Given the description of an element on the screen output the (x, y) to click on. 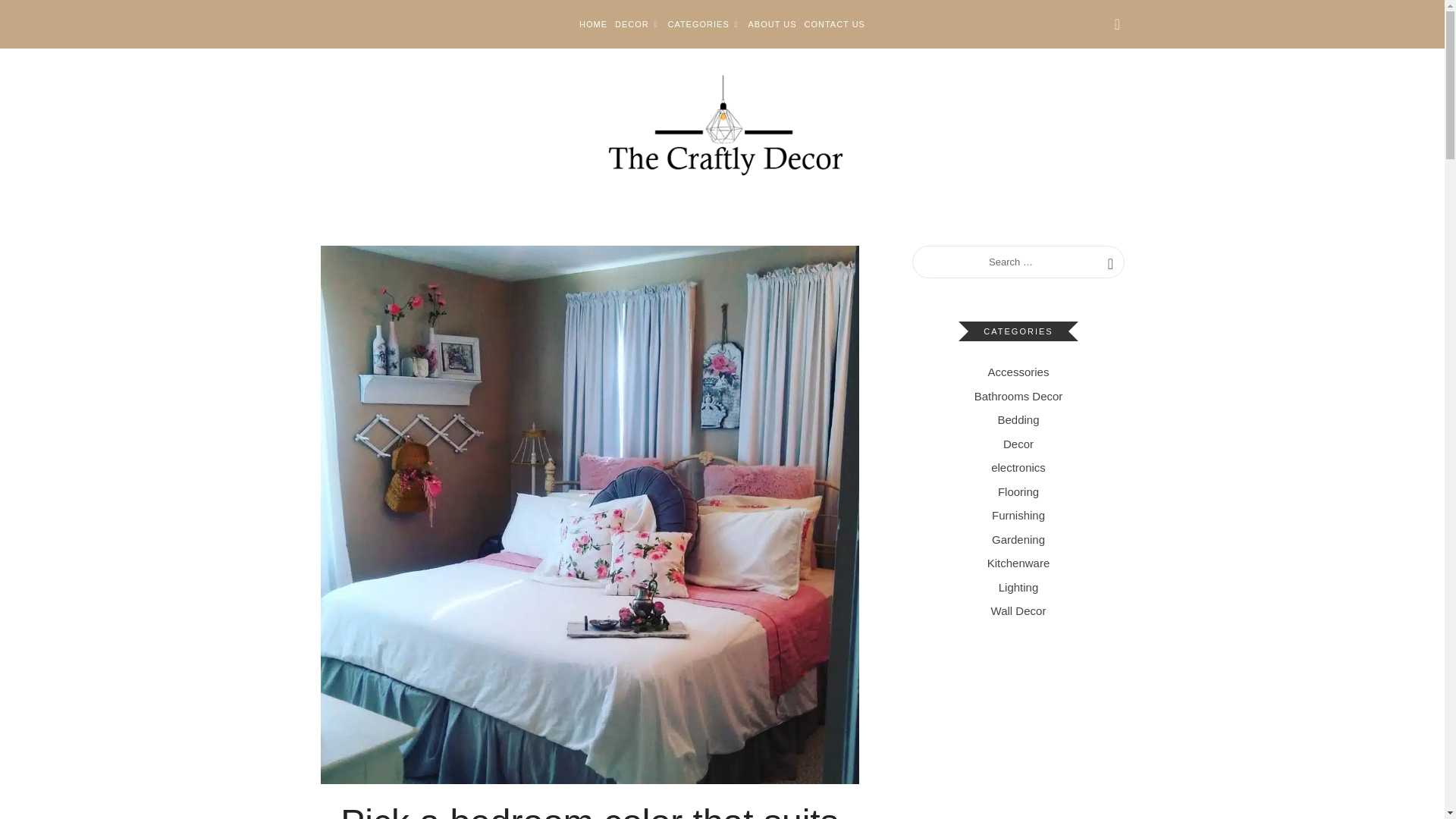
ABOUT US (772, 24)
CONTACT US (833, 24)
CATEGORIES (702, 24)
DECOR (636, 24)
